Given the description of an element on the screen output the (x, y) to click on. 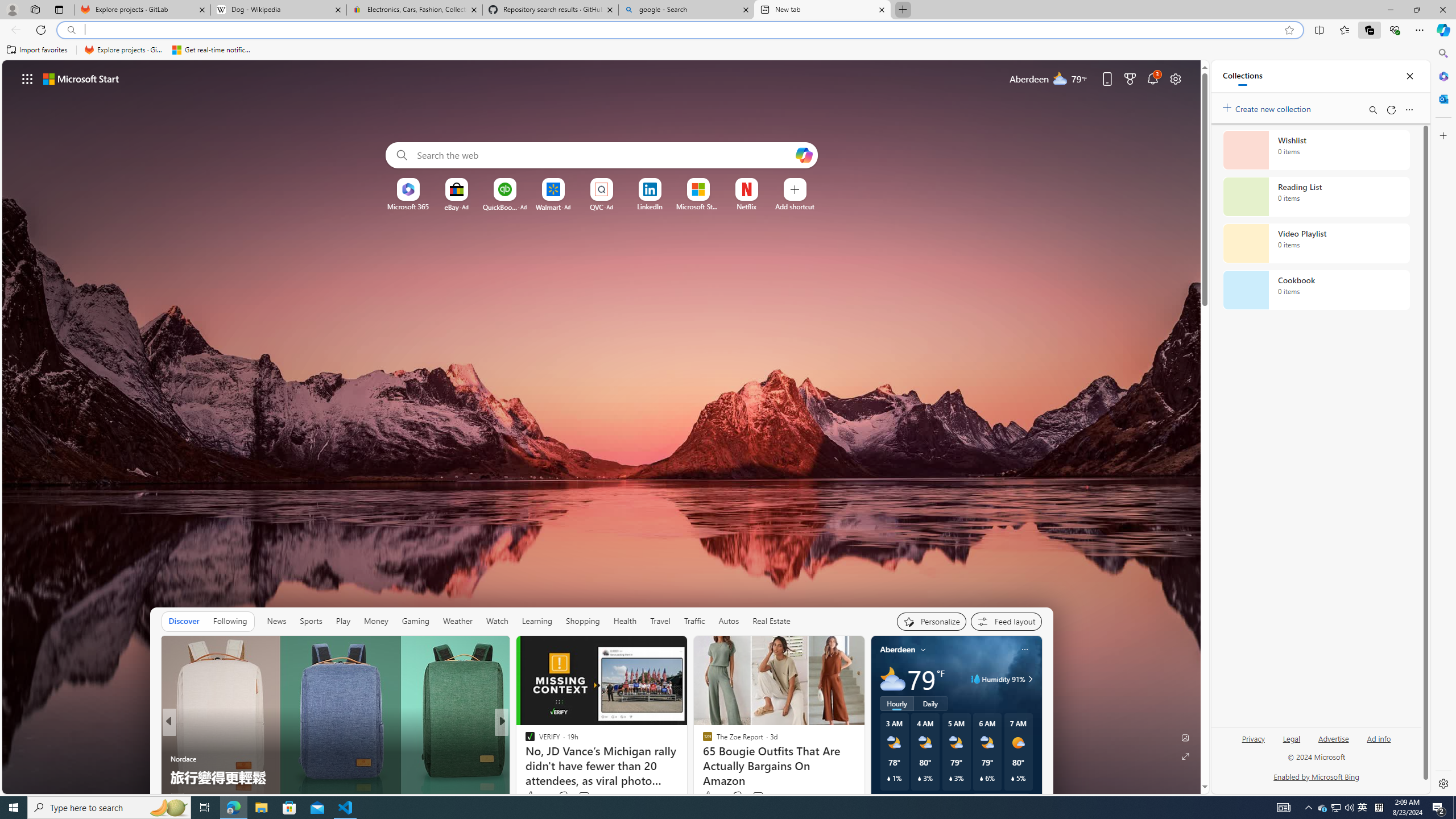
130 Like (532, 796)
Sports (310, 621)
Hourly (896, 703)
115 Like (536, 795)
Health (624, 621)
Shopping (582, 621)
Aberdeen (897, 649)
View comments 121 Comment (583, 795)
